Given the description of an element on the screen output the (x, y) to click on. 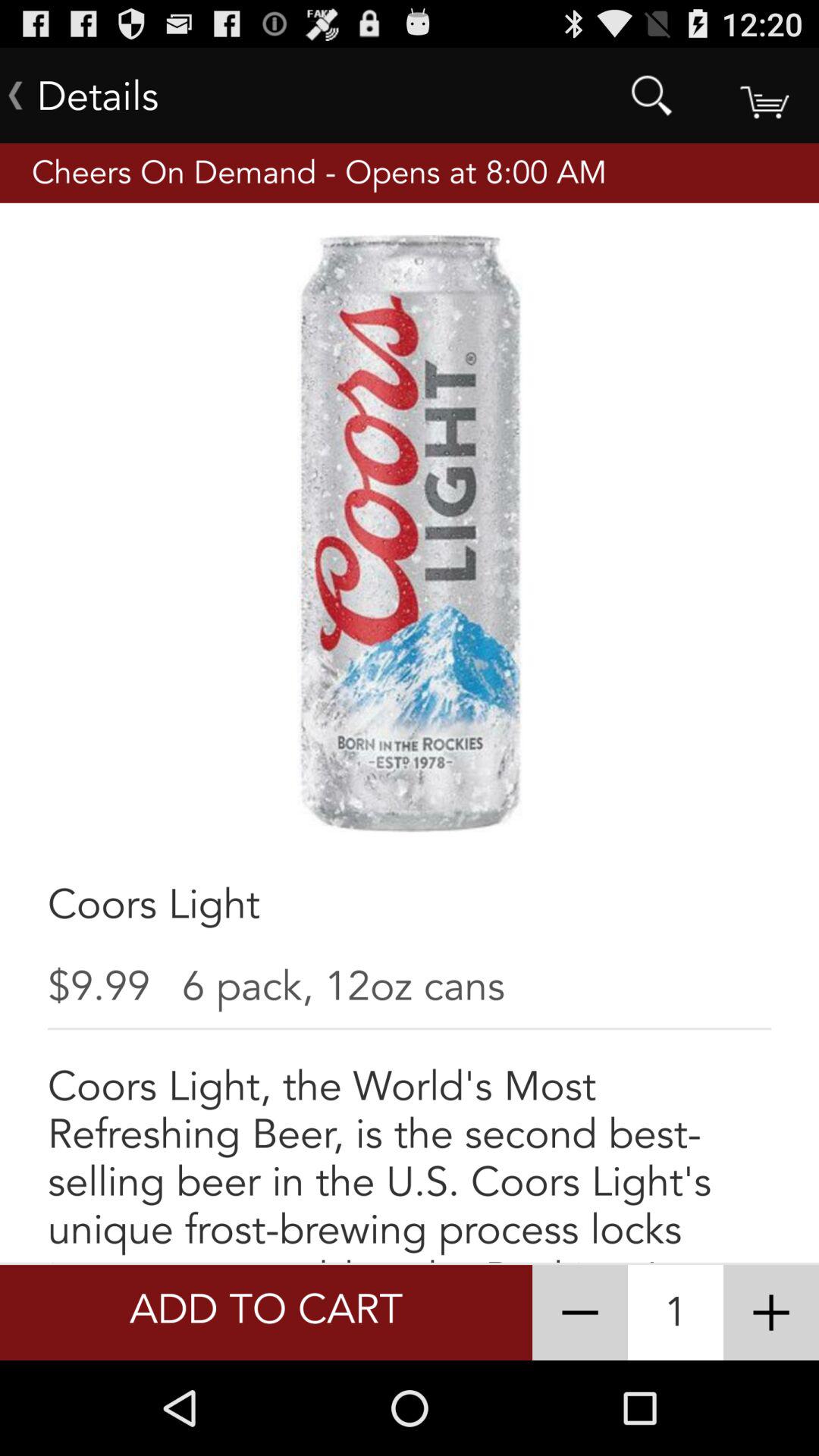
open the item to the right of 1 icon (771, 1312)
